Given the description of an element on the screen output the (x, y) to click on. 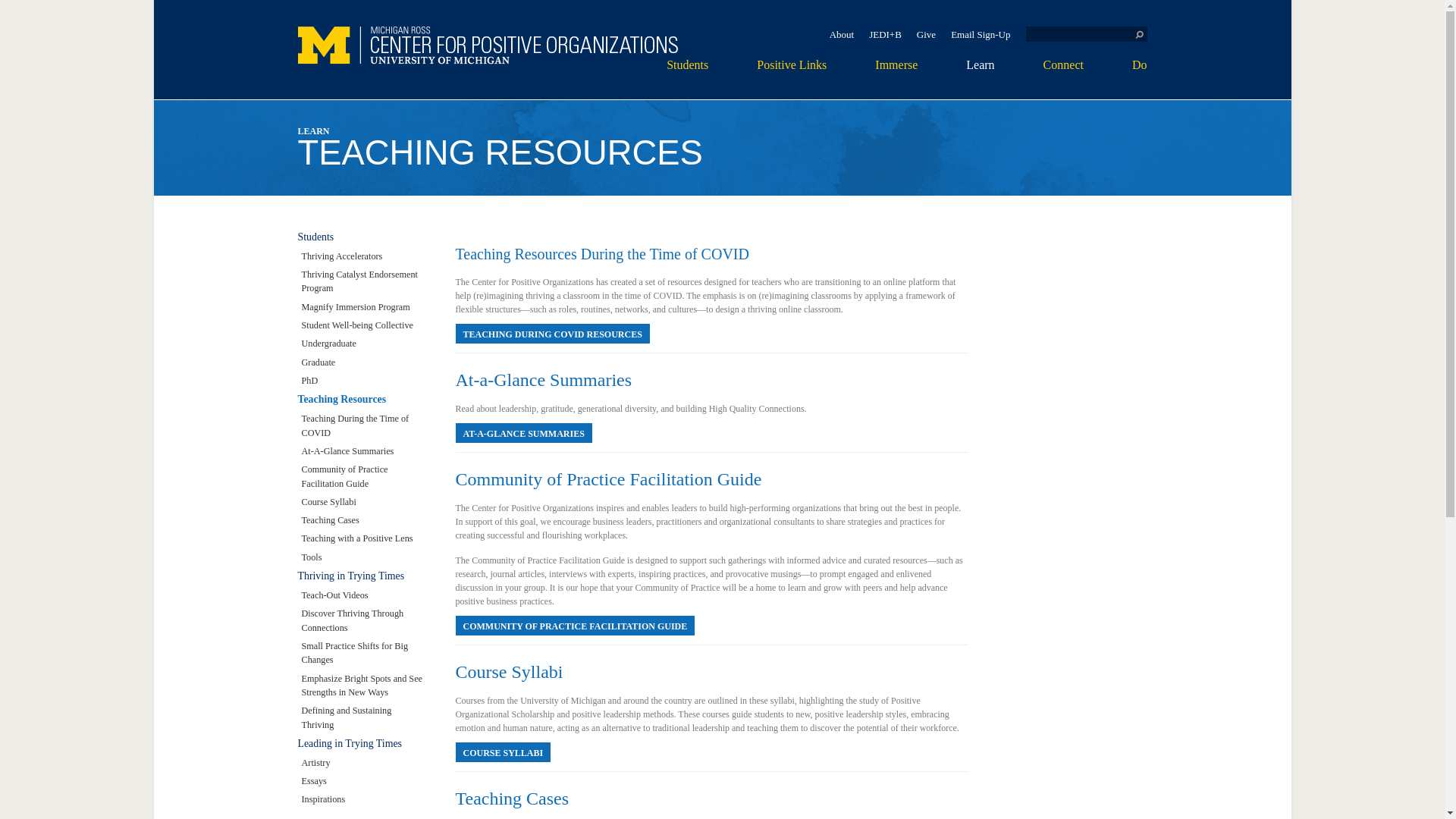
Search (1139, 33)
Search (1139, 33)
About (841, 34)
Students (686, 80)
Email Sign-Up (980, 34)
Immerse (896, 80)
Give (926, 34)
Positive Links (792, 80)
